Given the description of an element on the screen output the (x, y) to click on. 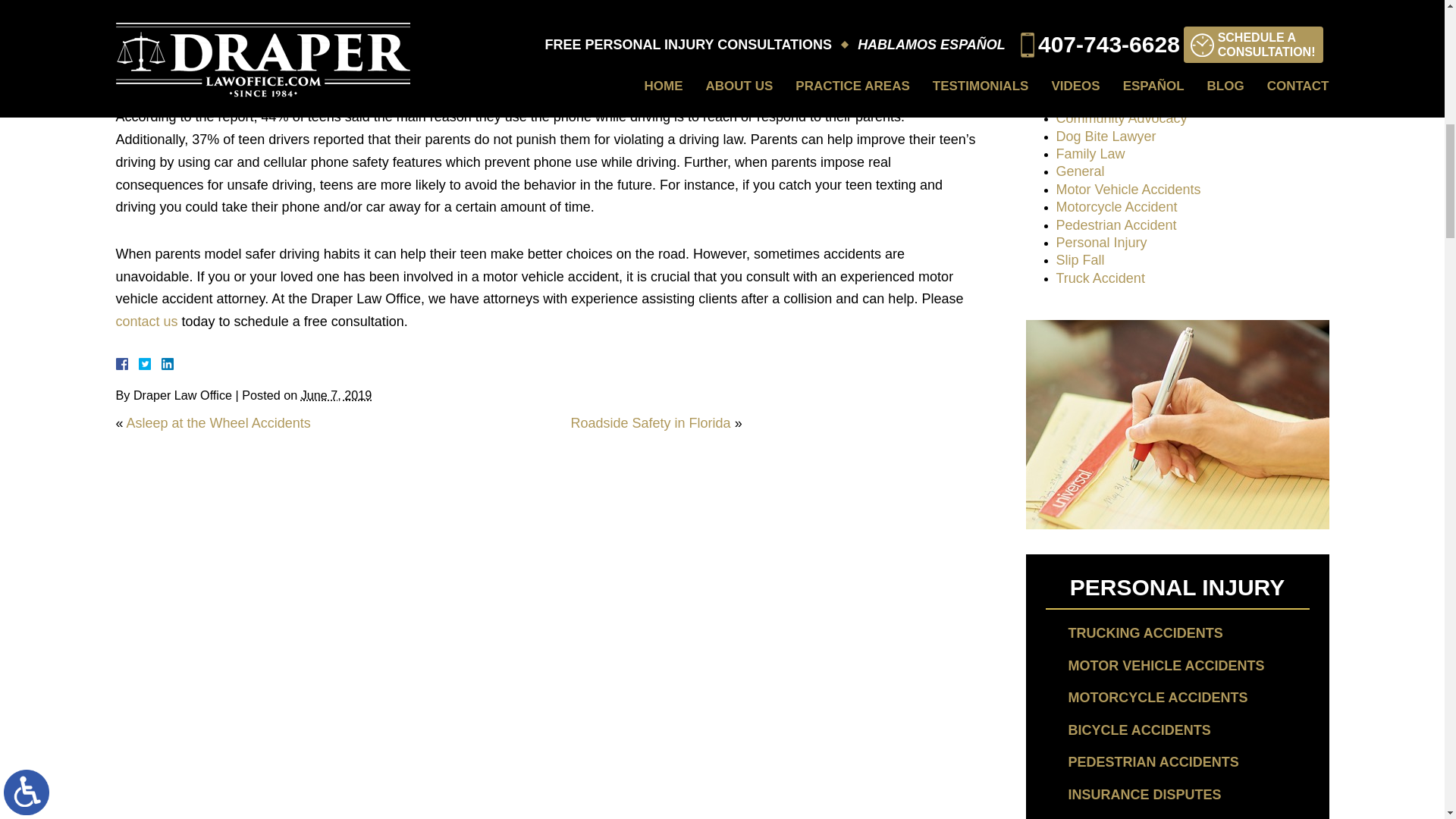
Twitter (149, 363)
Facebook (139, 363)
contact us (146, 321)
LinkedIn (160, 363)
2019-06-07T00:00:00-0700 (336, 395)
